Given the description of an element on the screen output the (x, y) to click on. 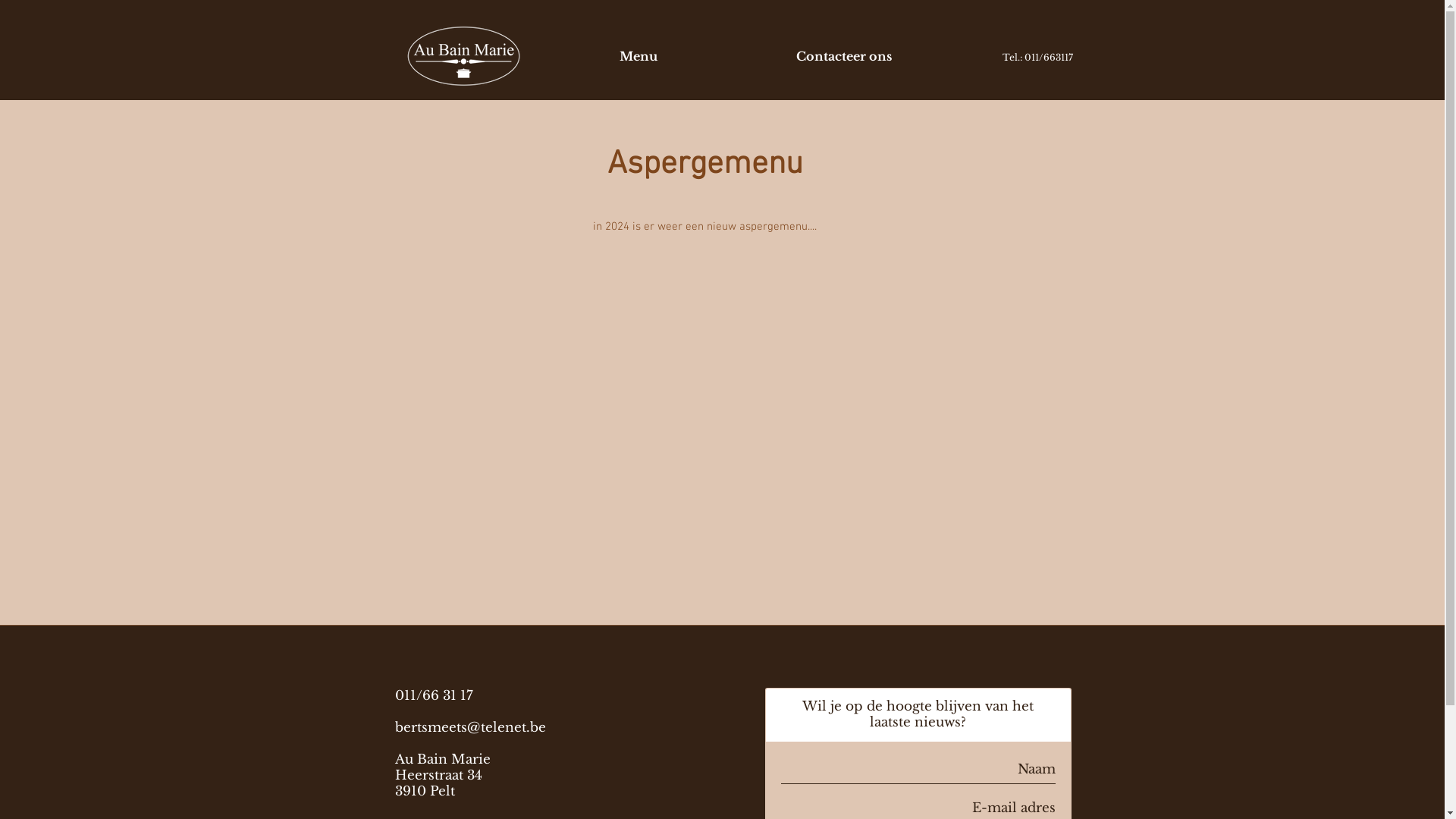
Restaurant Social Bar Element type: hover (1016, 49)
logo-bain-marie.png Element type: hover (462, 55)
011/66 31 17 Element type: text (433, 695)
Tel.: 011/663117 Element type: text (1037, 56)
Restaurant Social Bar Element type: hover (716, 654)
Contacteer ons Element type: text (843, 56)
bertsmeets@telenet.be Element type: text (469, 727)
